Given the description of an element on the screen output the (x, y) to click on. 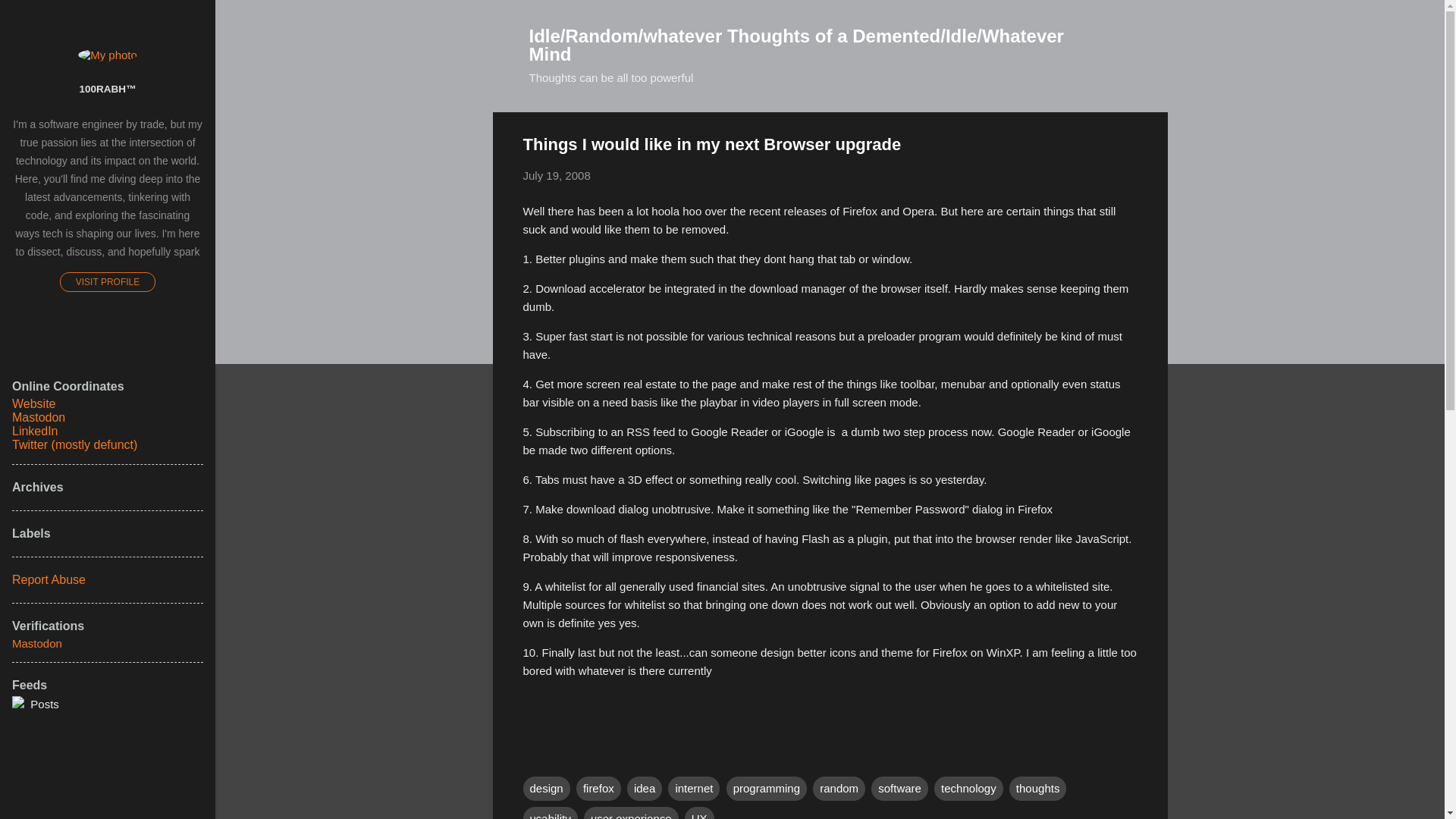
design (546, 788)
idea (644, 788)
UX (699, 812)
Search (29, 18)
software (899, 788)
usability (550, 812)
Email Post (531, 757)
random (838, 788)
user experience (630, 812)
firefox (598, 788)
